Given the description of an element on the screen output the (x, y) to click on. 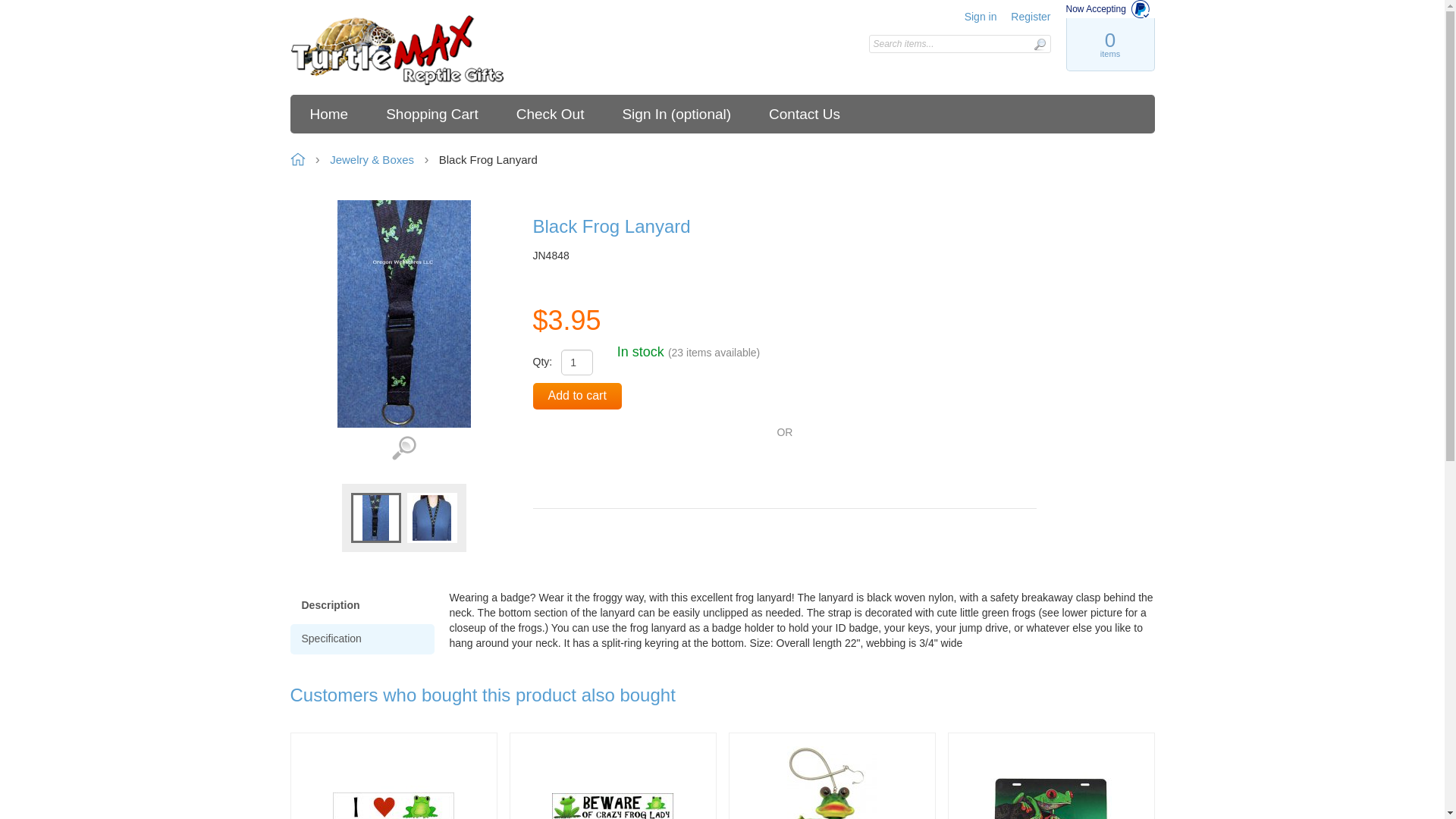
Home (397, 50)
Now Accepting PayPal (1109, 9)
1 (576, 362)
Quantity (576, 362)
Search (1039, 43)
PayPal (589, 470)
Your cart (1109, 44)
